Given the description of an element on the screen output the (x, y) to click on. 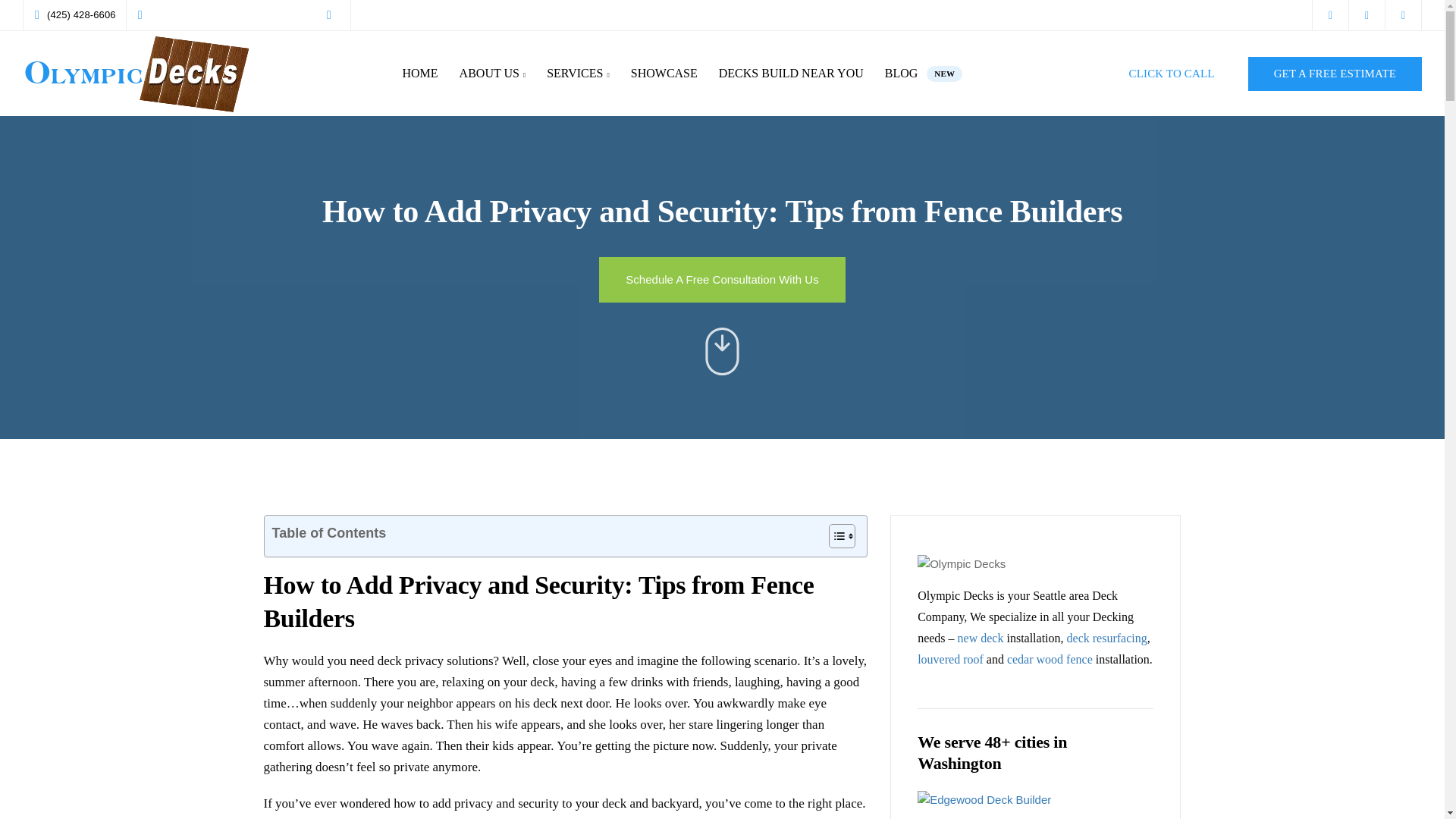
article down (721, 350)
SERVICES (577, 73)
ABOUT US (492, 73)
expert fence builders (561, 818)
GET A FREE ESTIMATE (1334, 73)
DECKS BUILD NEAR YOU (791, 73)
Get a Free Estimate (923, 73)
Schedule A Free Consultation With Us (721, 279)
SHOWCASE (721, 279)
